Given the description of an element on the screen output the (x, y) to click on. 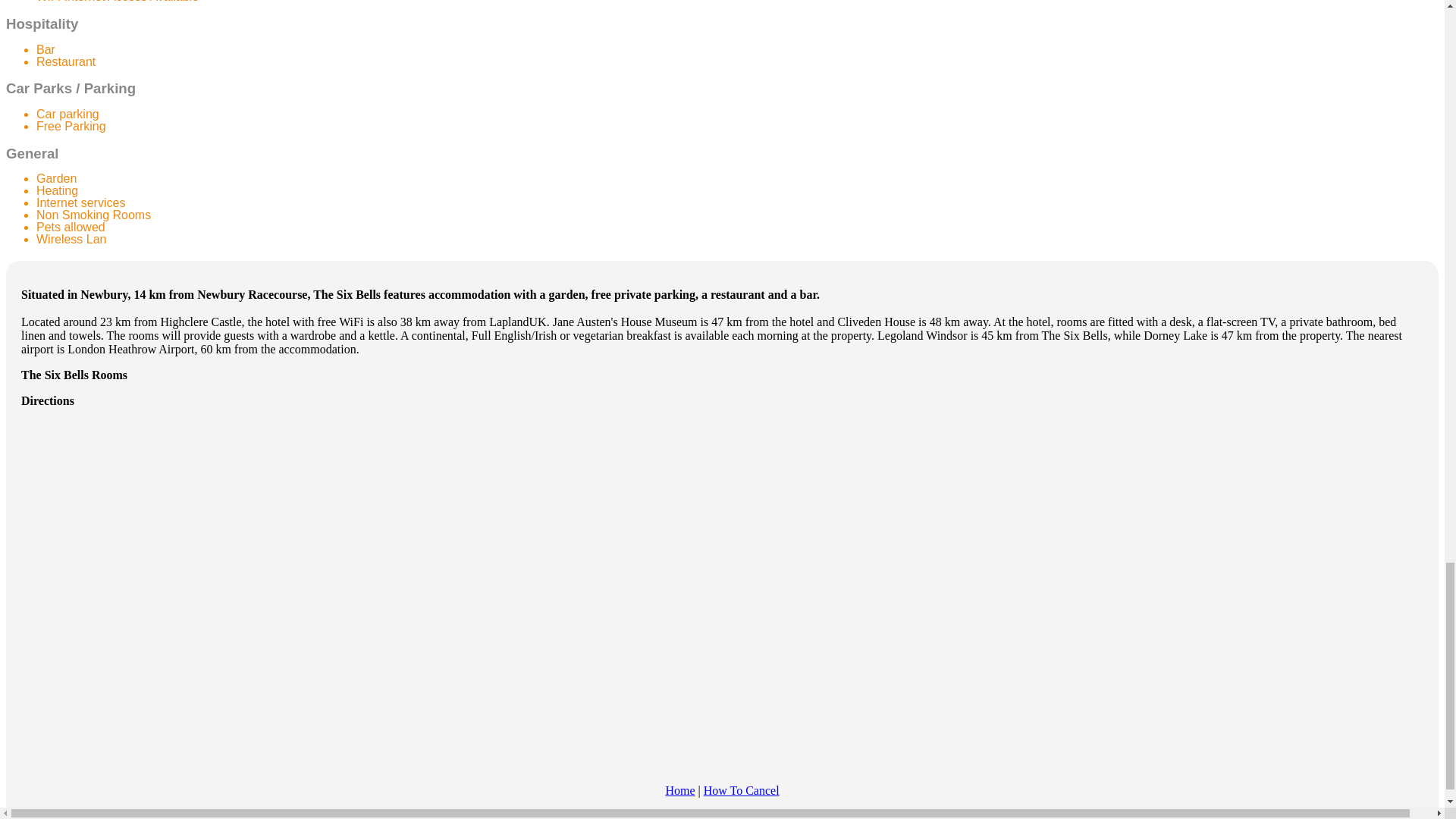
Home (679, 789)
How To Cancel (740, 789)
